Given the description of an element on the screen output the (x, y) to click on. 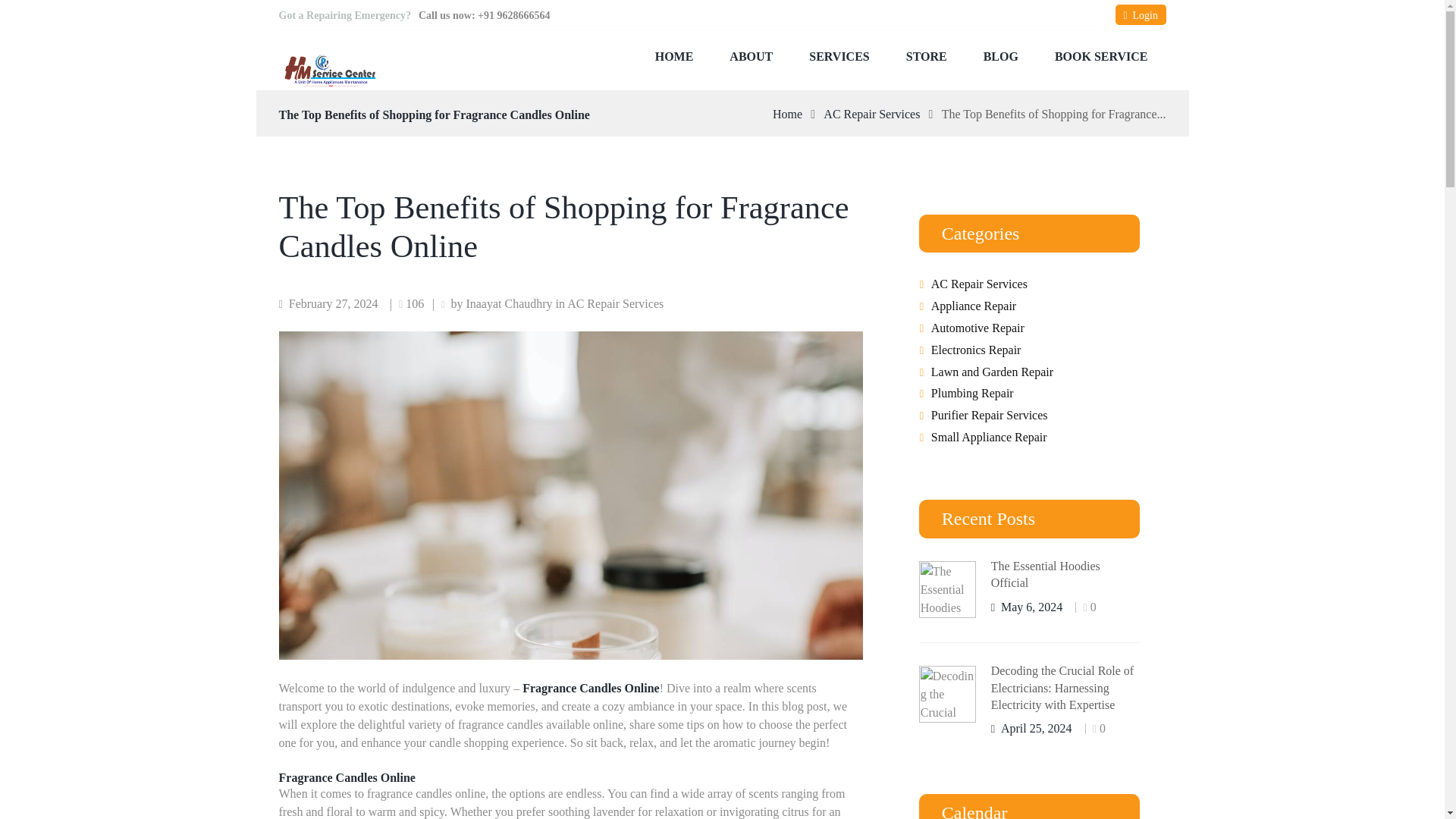
HOME (674, 56)
STORE (926, 56)
AC Repair Services (872, 114)
BLOG (1000, 56)
SERVICES (838, 56)
Views - 106 (411, 304)
AC Repair Services (615, 303)
Login (1140, 14)
Home (787, 114)
